Given the description of an element on the screen output the (x, y) to click on. 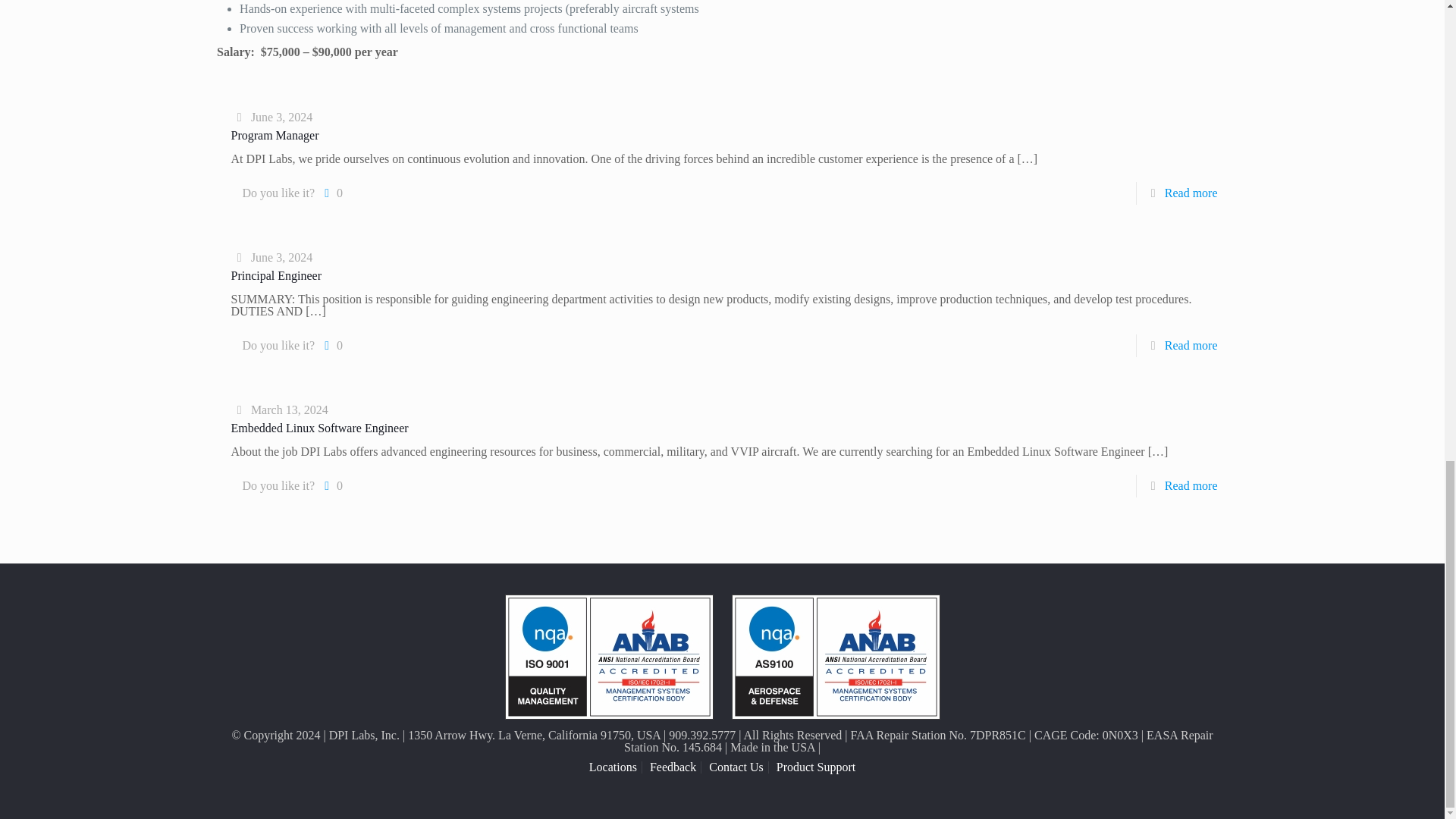
Read more (1190, 485)
Principal Engineer (275, 275)
Locations (613, 766)
0 (330, 192)
0 (330, 345)
Read more (1190, 345)
Program Manager (274, 134)
Read more (1190, 192)
0 (330, 486)
Embedded Linux Software Engineer (318, 427)
